Given the description of an element on the screen output the (x, y) to click on. 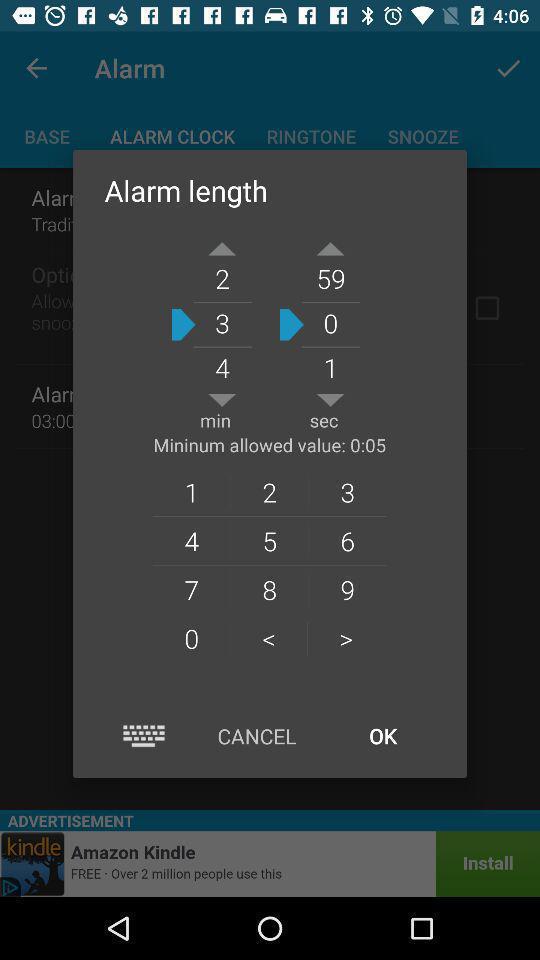
choose the item next to 1 item (269, 492)
